Given the description of an element on the screen output the (x, y) to click on. 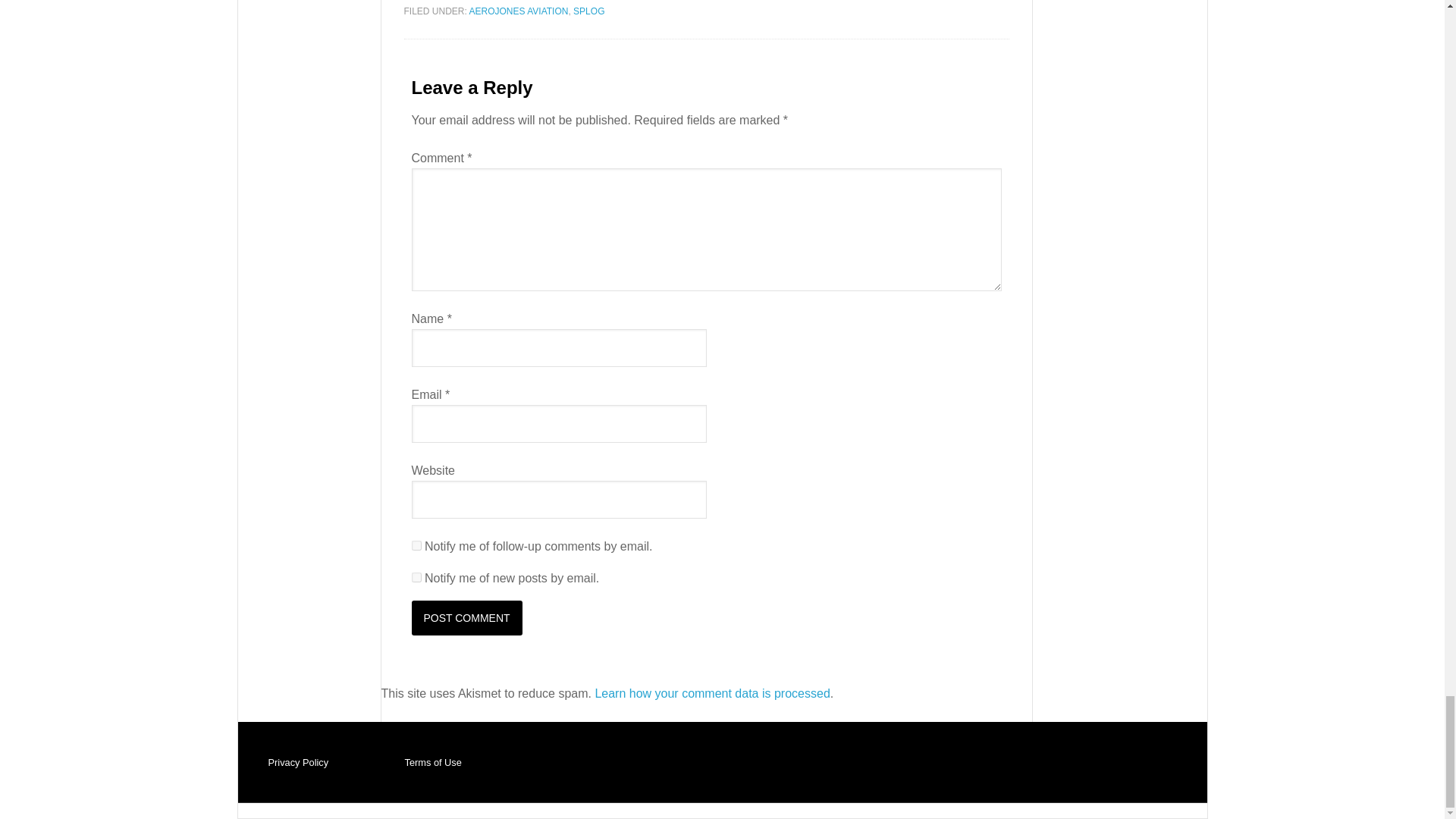
subscribe (415, 577)
Post Comment (465, 617)
subscribe (415, 545)
